Given the description of an element on the screen output the (x, y) to click on. 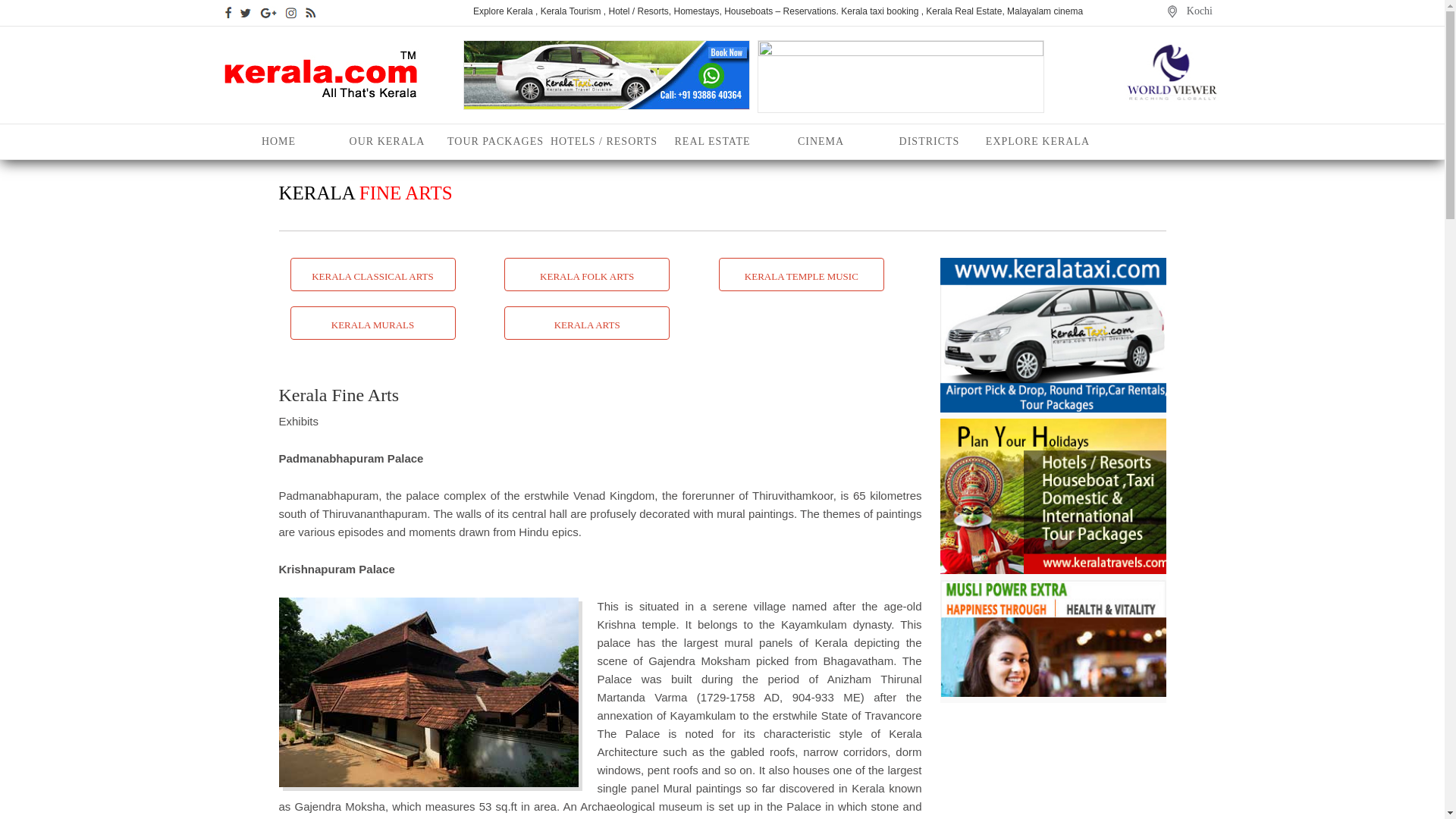
REAL ESTATE (712, 141)
Cinema (821, 141)
Districts (929, 141)
Kochi (1199, 10)
HOME (278, 141)
TOUR PACKAGES (495, 141)
Real Estate (712, 141)
CINEMA (821, 141)
Home (278, 141)
OUR KERALA (387, 141)
Explore Kerala (1038, 141)
Tour Packages (495, 141)
